Given the description of an element on the screen output the (x, y) to click on. 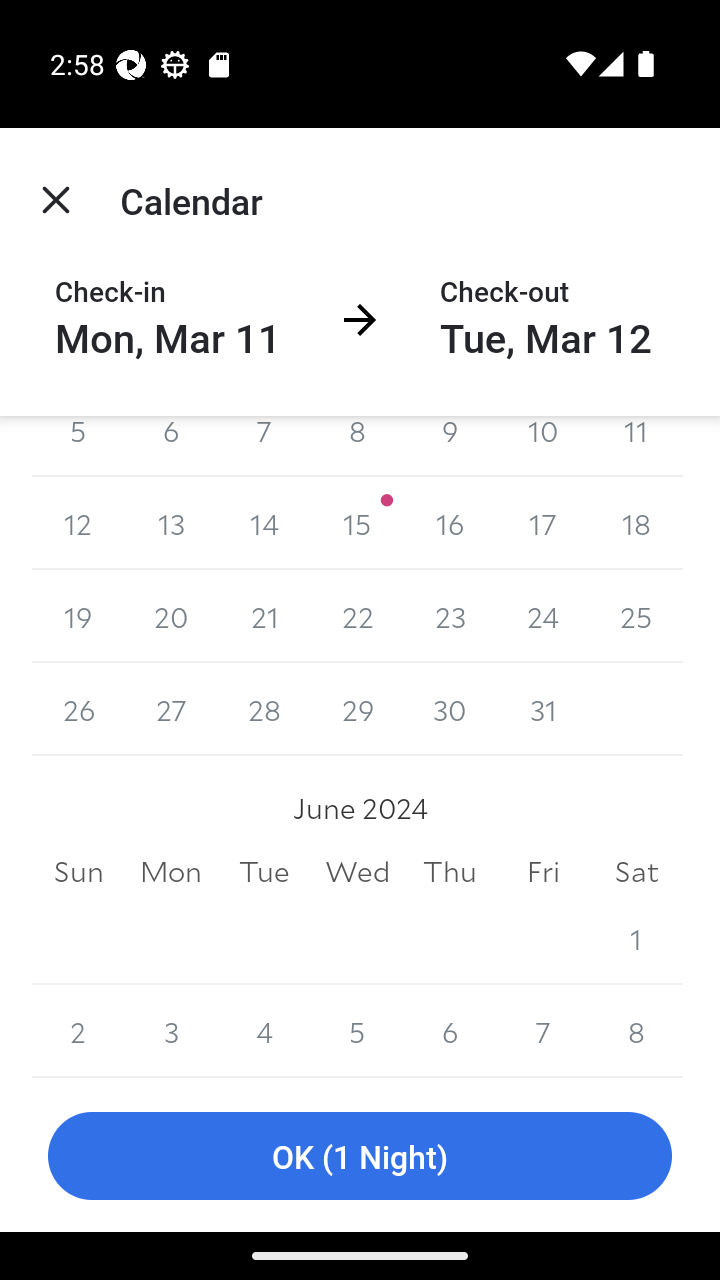
5 5 May 2024 (78, 446)
6 6 May 2024 (171, 446)
7 7 May 2024 (264, 446)
8 8 May 2024 (357, 446)
9 9 May 2024 (449, 446)
10 10 May 2024 (542, 446)
11 11 May 2024 (636, 446)
12 12 May 2024 (78, 523)
13 13 May 2024 (171, 523)
14 14 May 2024 (264, 523)
15 15 May 2024 (357, 523)
16 16 May 2024 (449, 523)
17 17 May 2024 (542, 523)
18 18 May 2024 (636, 523)
19 19 May 2024 (78, 616)
20 20 May 2024 (171, 616)
21 21 May 2024 (264, 616)
22 22 May 2024 (357, 616)
23 23 May 2024 (449, 616)
24 24 May 2024 (542, 616)
25 25 May 2024 (636, 616)
26 26 May 2024 (78, 709)
27 27 May 2024 (171, 709)
28 28 May 2024 (264, 709)
29 29 May 2024 (357, 709)
30 30 May 2024 (449, 709)
31 31 May 2024 (542, 709)
Sun (78, 871)
Mon (171, 871)
Tue (264, 871)
Wed (357, 871)
Thu (449, 871)
Fri (542, 871)
Sat (636, 871)
1 1 June 2024 (636, 938)
2 2 June 2024 (78, 1031)
3 3 June 2024 (171, 1031)
4 4 June 2024 (264, 1031)
5 5 June 2024 (357, 1031)
6 6 June 2024 (449, 1031)
7 7 June 2024 (542, 1031)
8 8 June 2024 (636, 1031)
OK (1 Night) (359, 1156)
